Given the description of an element on the screen output the (x, y) to click on. 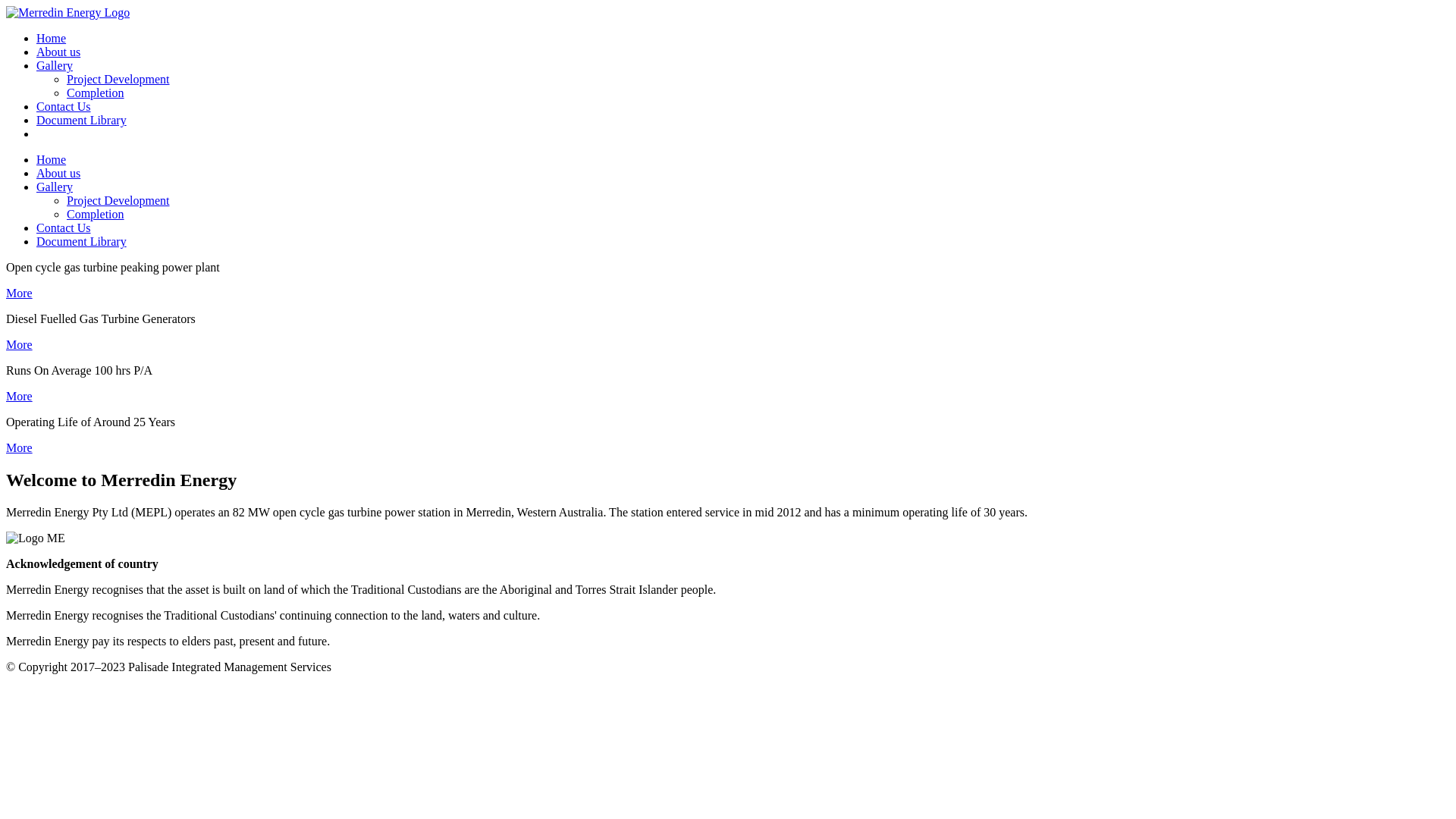
More Element type: text (19, 292)
More Element type: text (19, 447)
Contact Us Element type: text (63, 227)
Home Element type: text (50, 159)
Gallery Element type: text (54, 186)
More Element type: text (19, 395)
About us Element type: text (58, 172)
Project Development Element type: text (117, 200)
Completion Element type: text (95, 213)
More Element type: text (19, 344)
Home Element type: text (50, 37)
Document Library Element type: text (81, 241)
Project Development Element type: text (117, 78)
Document Library Element type: text (81, 119)
Contact Us Element type: text (63, 106)
Gallery Element type: text (54, 65)
Completion Element type: text (95, 92)
About us Element type: text (58, 51)
